Given the description of an element on the screen output the (x, y) to click on. 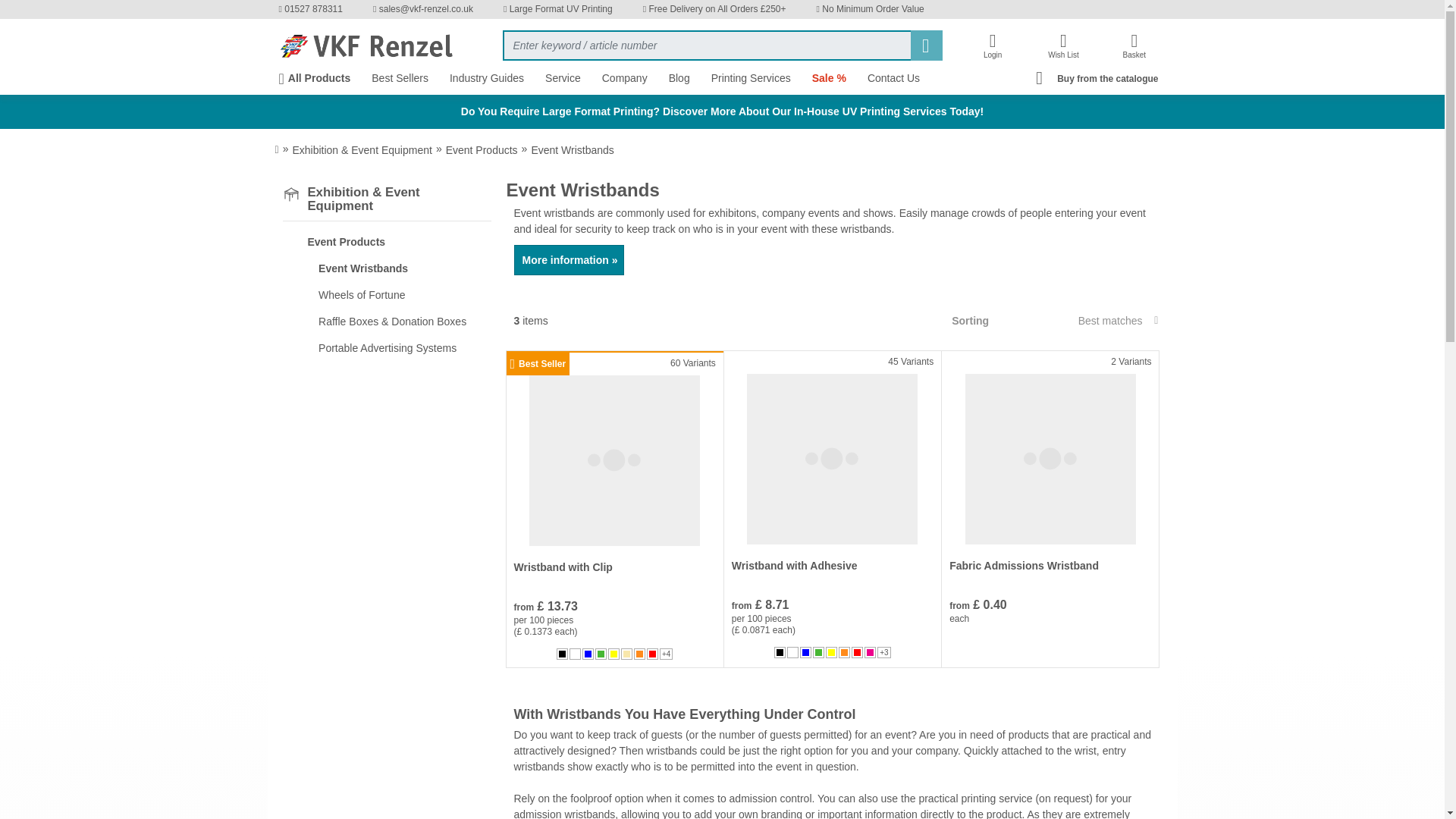
01527 878311 (312, 9)
Wish List (1063, 47)
Portable Advertising Systems (392, 347)
Event Wristbands (571, 149)
Event Wristbands (392, 268)
 Customer Service (312, 9)
Large Format UV Printing (558, 9)
Search now (926, 45)
Event Products (386, 242)
Login (991, 47)
